Given the description of an element on the screen output the (x, y) to click on. 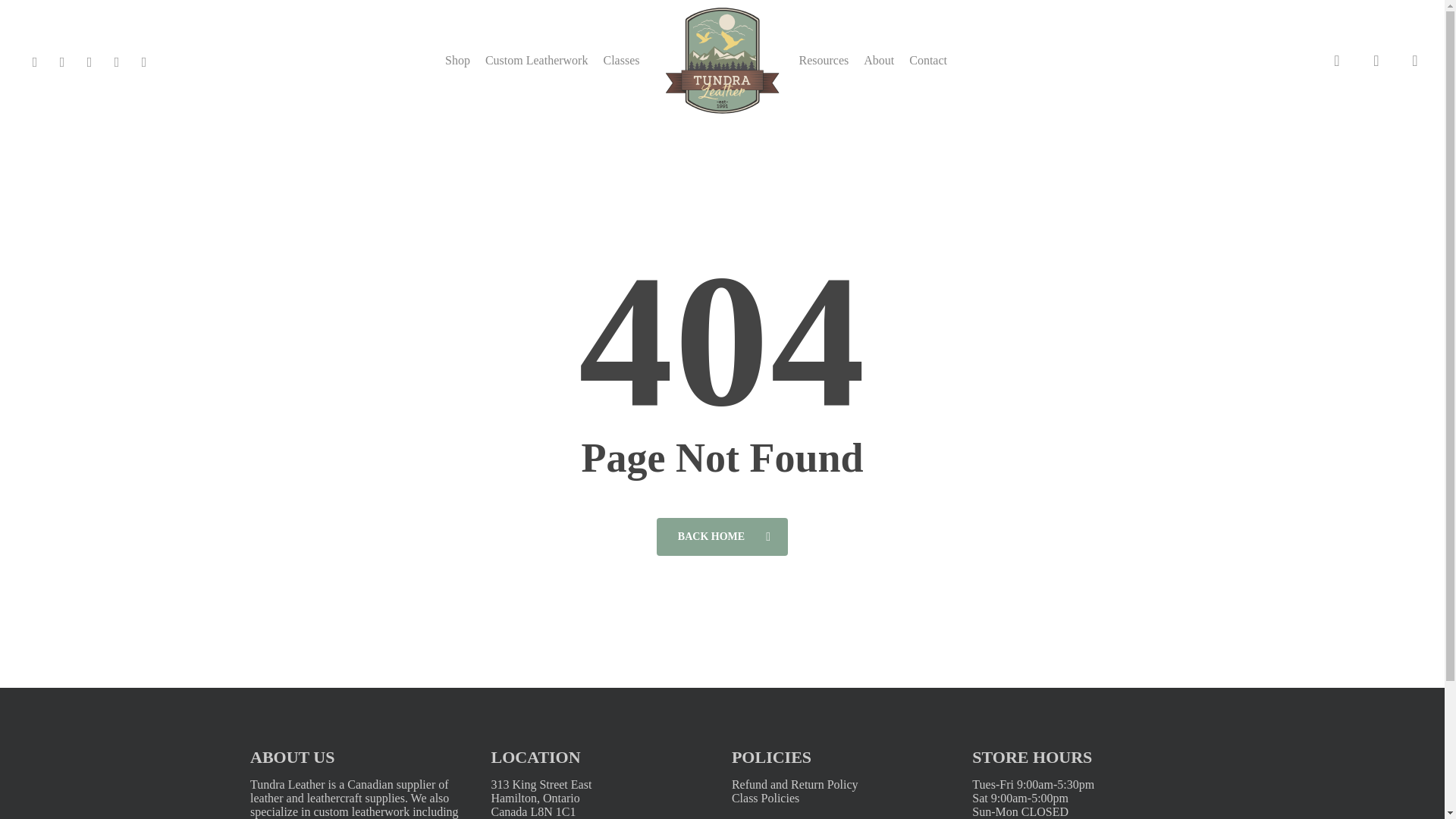
BACK HOME (721, 535)
search (1336, 60)
email (144, 59)
account (1376, 60)
Custom Leatherwork (536, 60)
Resources (822, 60)
About (878, 60)
instagram (117, 59)
Shop (457, 60)
facebook (34, 59)
Classes (620, 60)
youtube (89, 59)
Contact (927, 60)
Refund and Return Policy (795, 784)
Class Policies (765, 797)
